Given the description of an element on the screen output the (x, y) to click on. 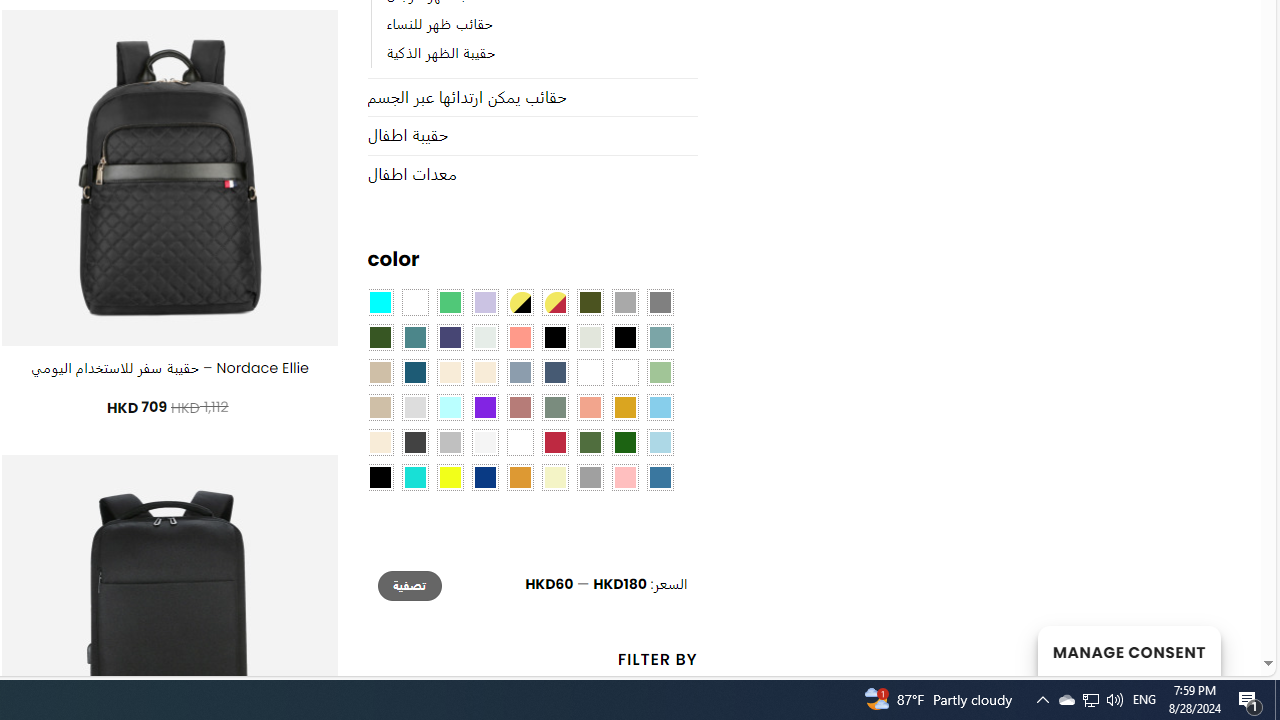
Rose (519, 408)
Caramel (449, 372)
Dusty Blue (519, 372)
Hale Navy (554, 372)
Black-Brown (624, 337)
Purple (484, 408)
